Given the description of an element on the screen output the (x, y) to click on. 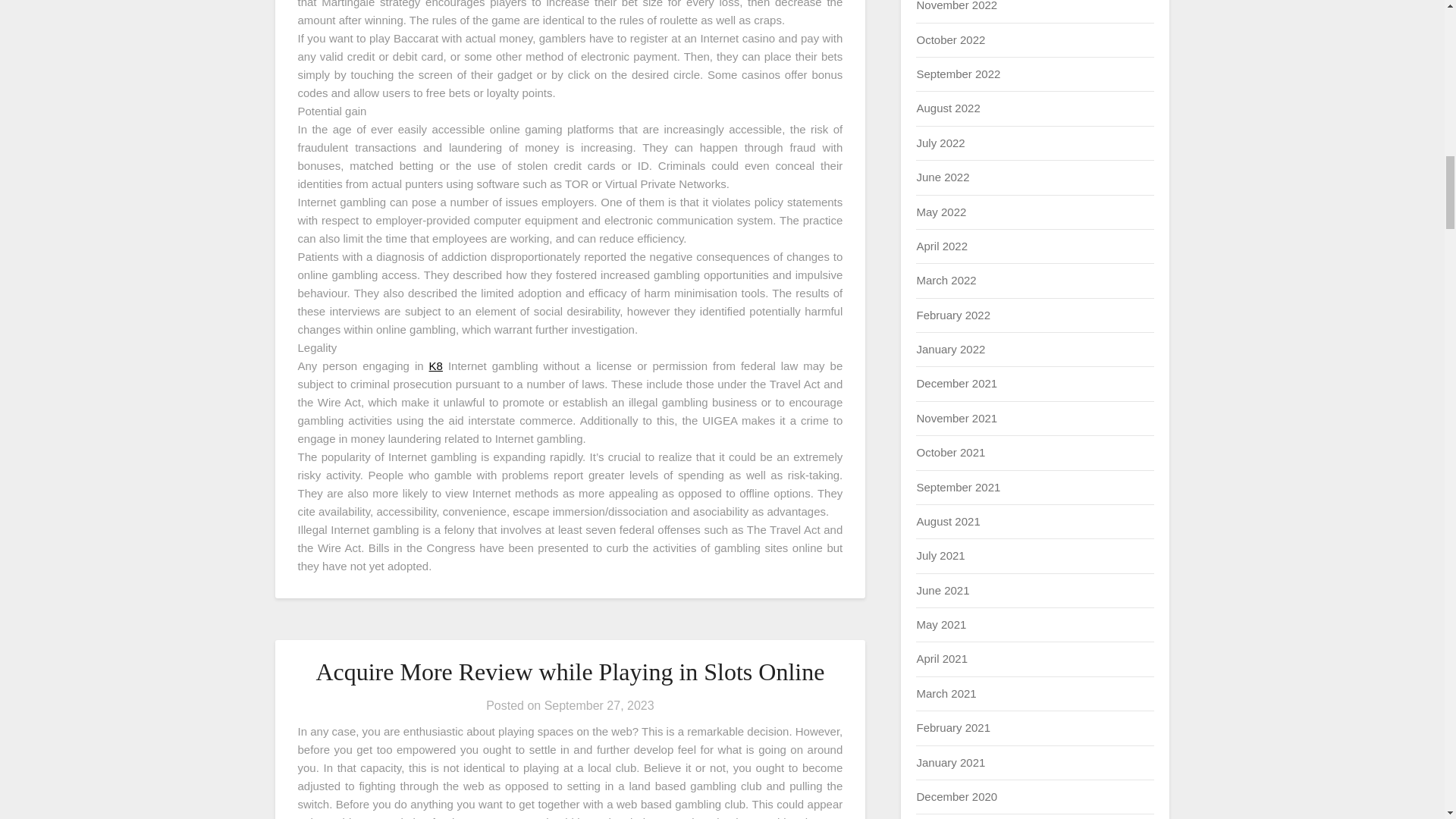
September 27, 2023 (598, 705)
K8 (435, 365)
Acquire More Review while Playing in Slots Online (569, 671)
